Given the description of an element on the screen output the (x, y) to click on. 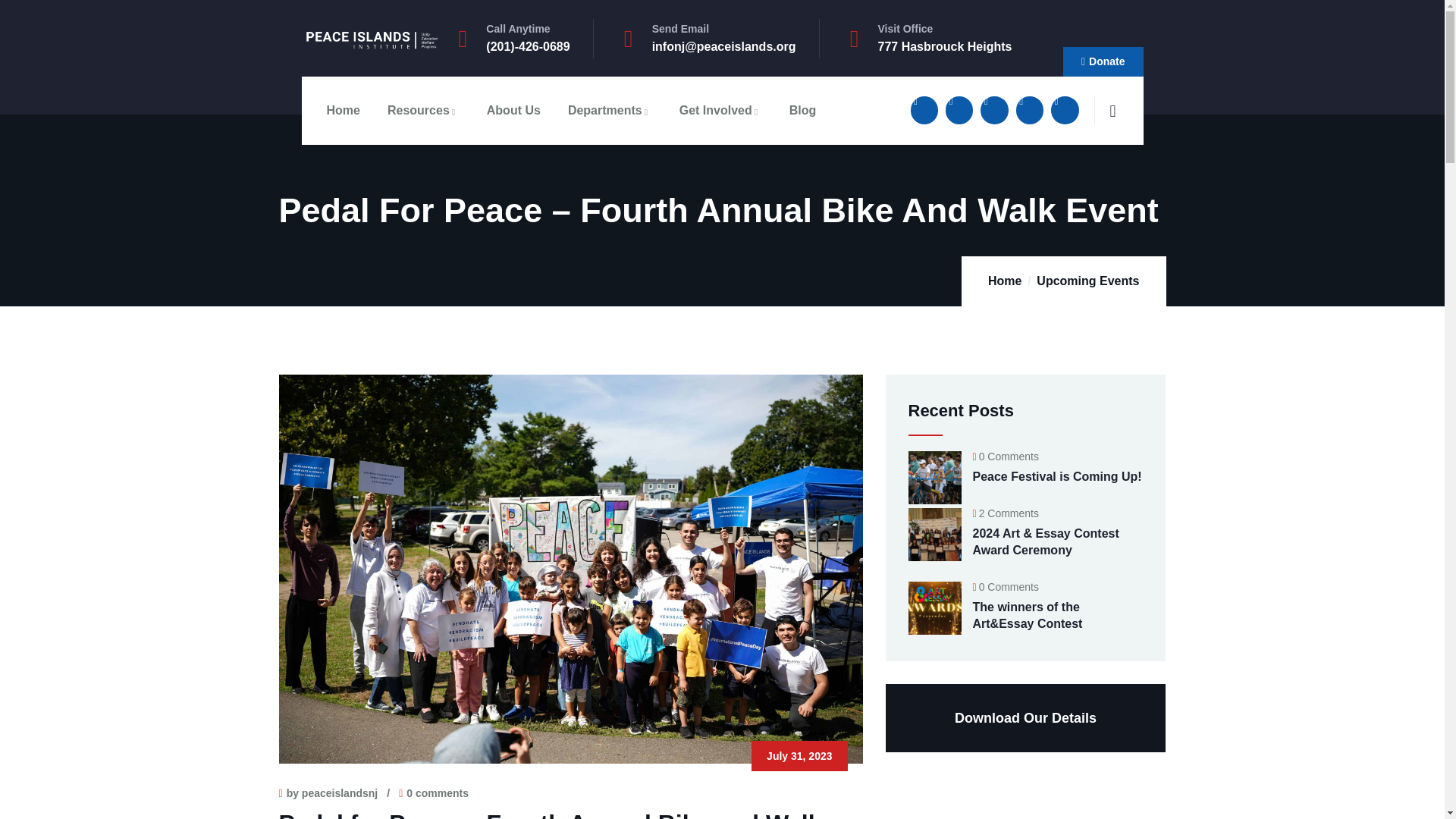
Home (371, 42)
